Given the description of an element on the screen output the (x, y) to click on. 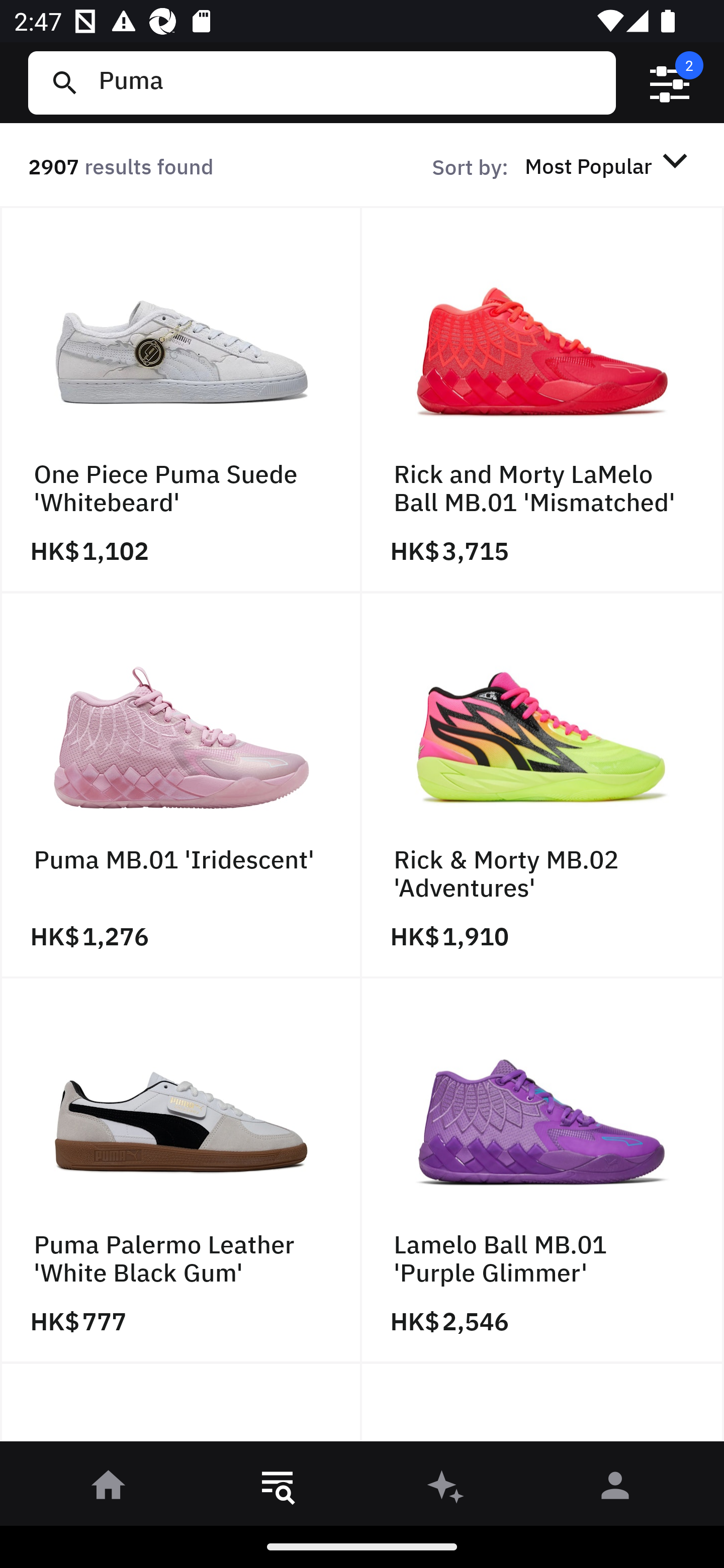
Puma (349, 82)
 (669, 82)
Most Popular  (609, 165)
One Piece Puma Suede 'Whitebeard' HK$ 1,102 (181, 399)
Puma MB.01 'Iridescent' HK$ 1,276 (181, 785)
Rick & Morty MB.02 'Adventures' HK$ 1,910 (543, 785)
Puma Palermo Leather 'White Black Gum' HK$ 777 (181, 1171)
Lamelo Ball MB.01 'Purple Glimmer' HK$ 2,546 (543, 1171)
󰋜 (108, 1488)
󱎸 (277, 1488)
󰫢 (446, 1488)
󰀄 (615, 1488)
